Given the description of an element on the screen output the (x, y) to click on. 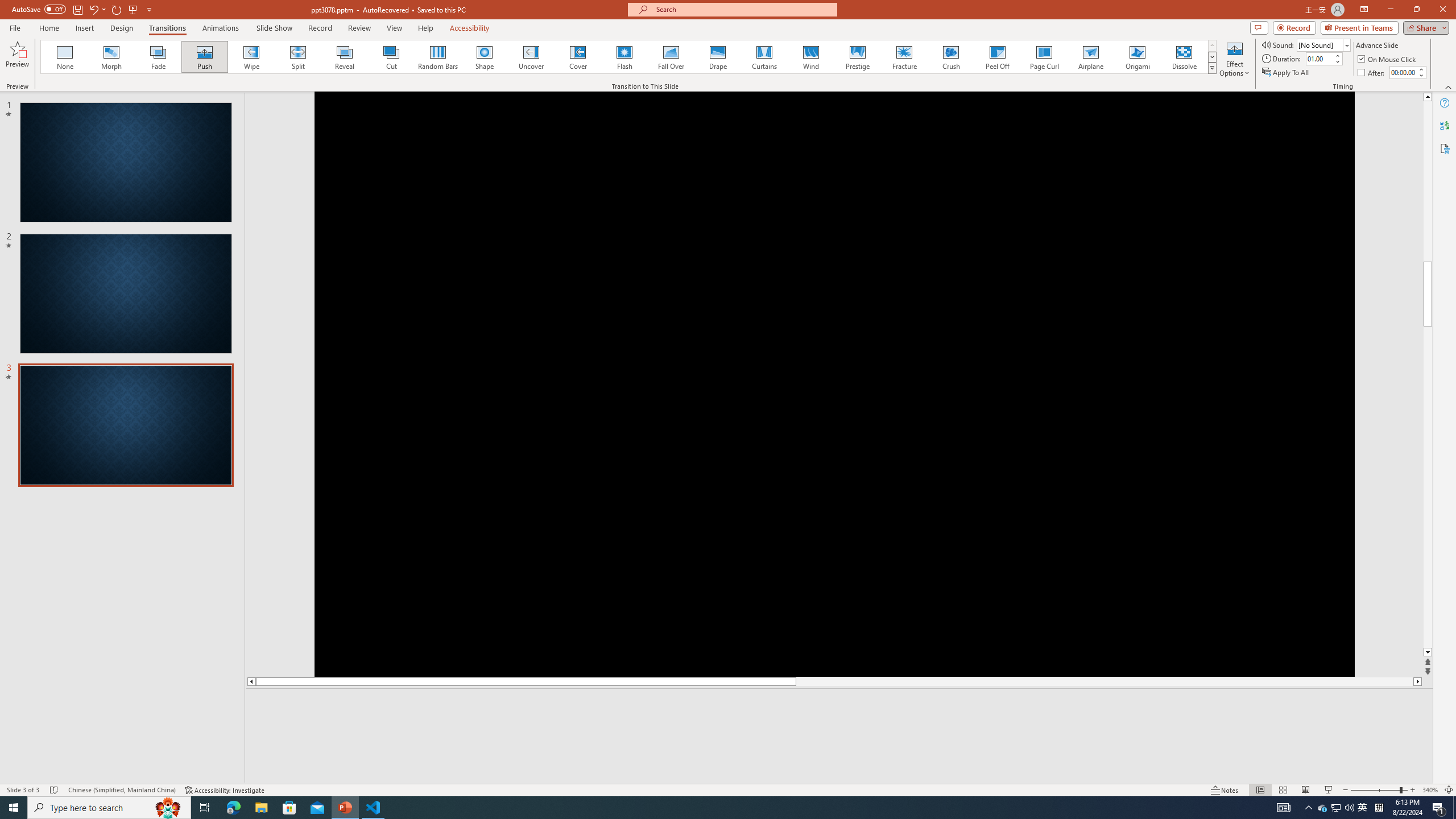
Wind (810, 56)
Uncover (531, 56)
Shape (484, 56)
Drape (717, 56)
Reveal (344, 56)
Flash (624, 56)
Page down (1427, 567)
